Given the description of an element on the screen output the (x, y) to click on. 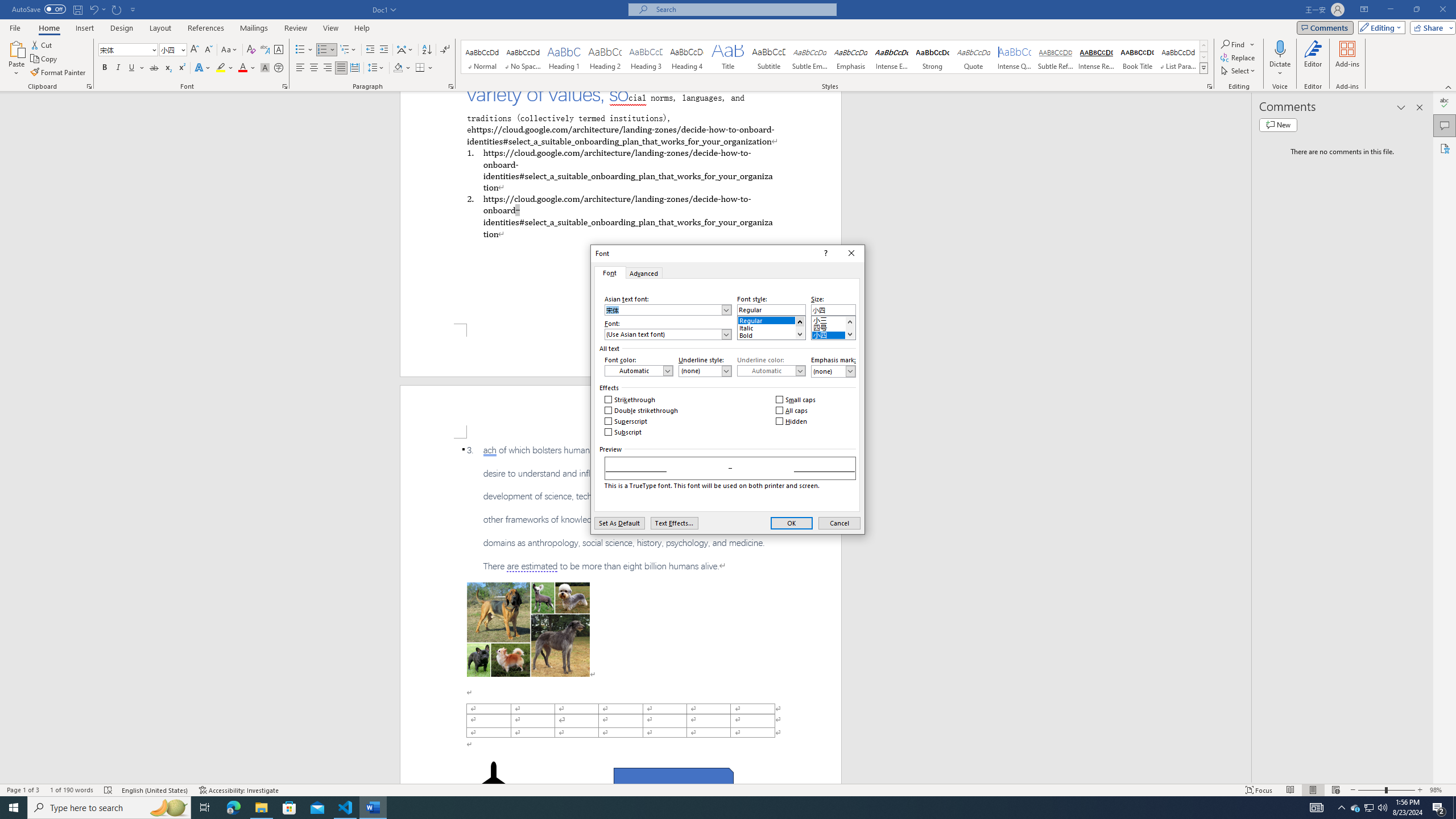
Subtle Emphasis (809, 56)
